Given the description of an element on the screen output the (x, y) to click on. 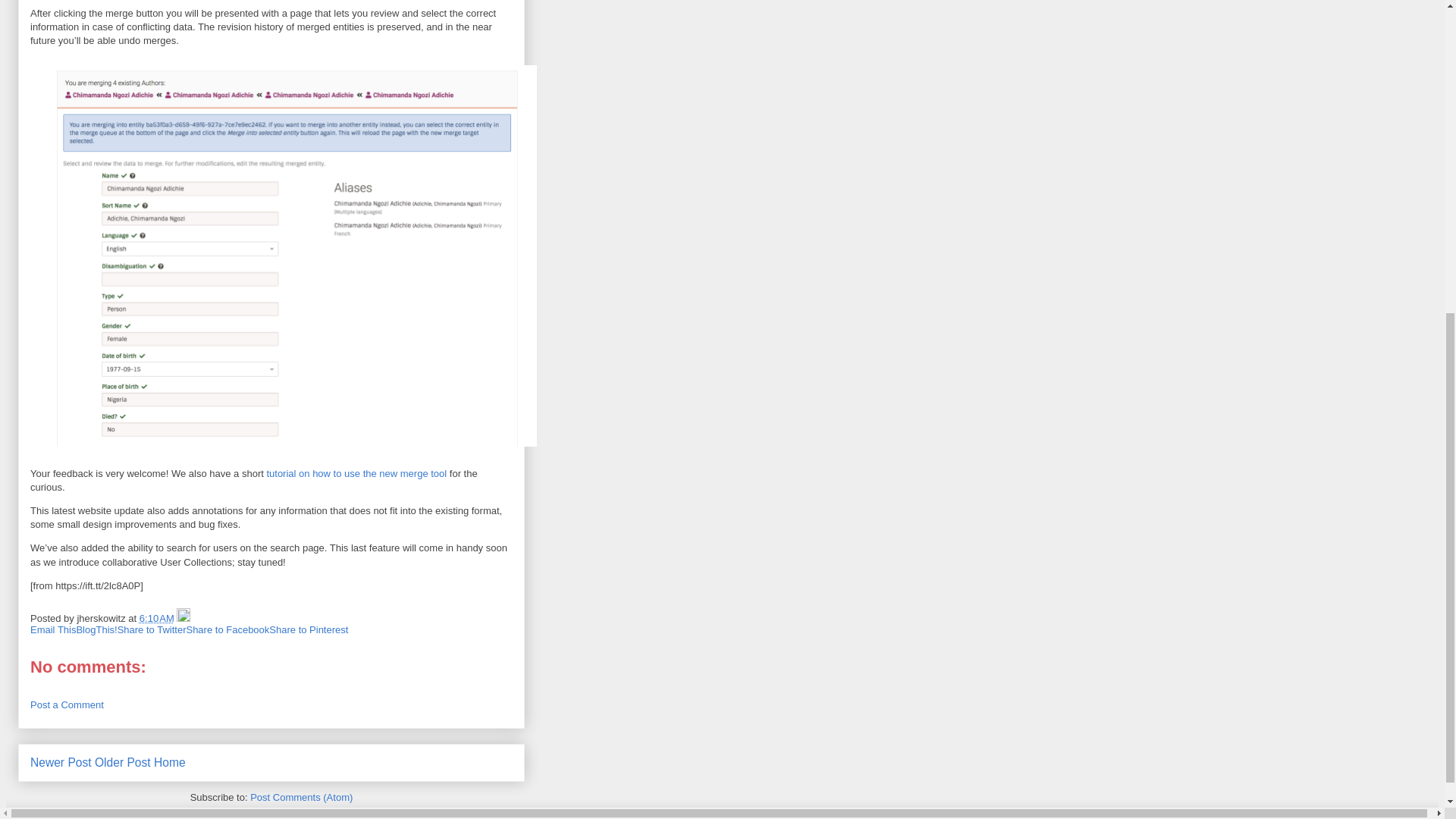
Older Post (122, 762)
Post a Comment (66, 704)
Email This (52, 629)
Email This (52, 629)
BlogThis! (95, 629)
Home (170, 762)
Newer Post (60, 762)
Newer Post (60, 762)
Share to Pinterest (308, 629)
permanent link (156, 617)
Share to Facebook (227, 629)
Share to Facebook (227, 629)
tutorial on how to use the new merge tool (356, 473)
Share to Pinterest (308, 629)
